Given the description of an element on the screen output the (x, y) to click on. 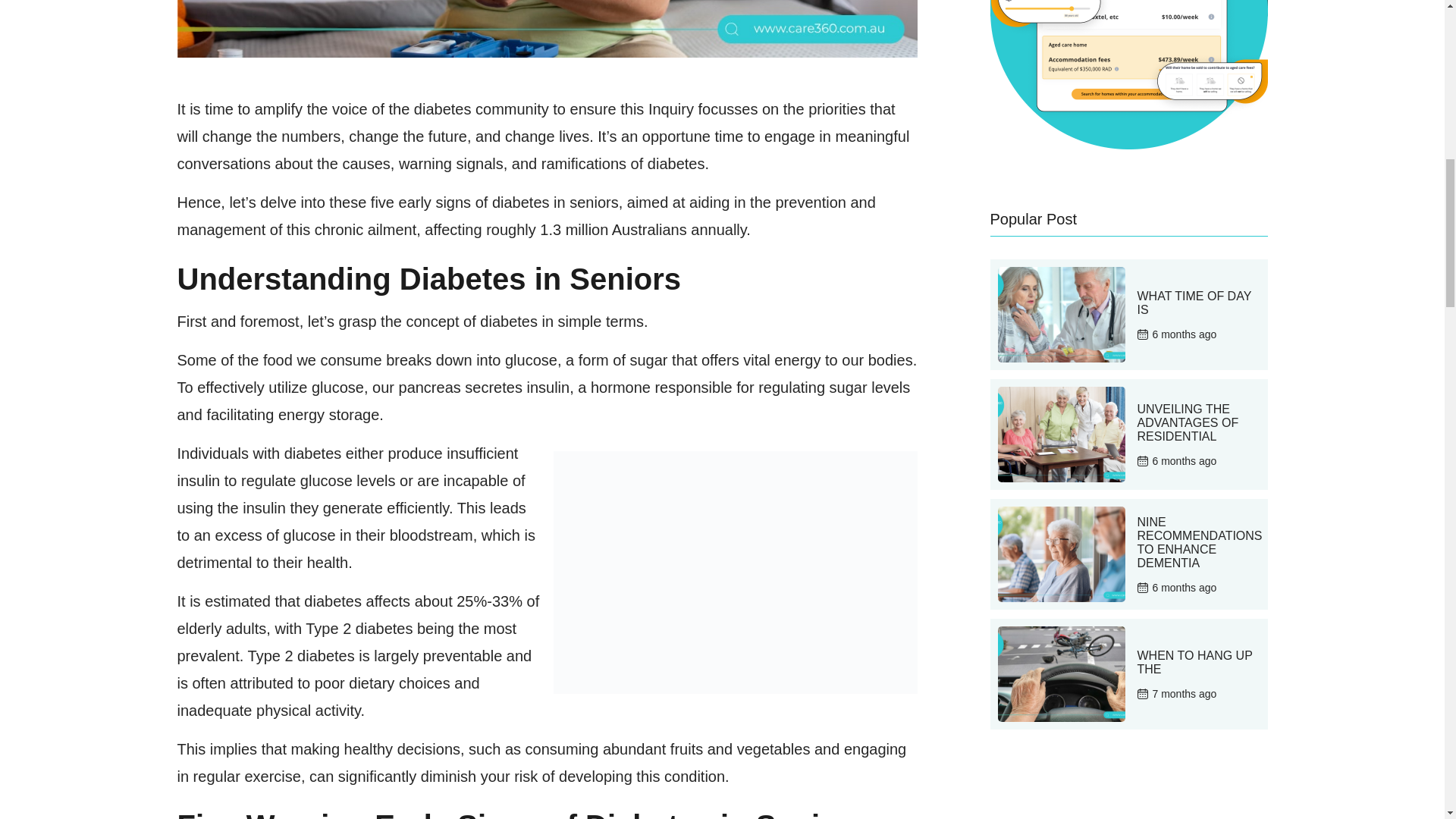
NINE RECOMMENDATIONS TO ENHANCE DEMENTIA (1199, 542)
UNVEILING THE ADVANTAGES OF RESIDENTIAL (1188, 422)
WHEN TO HANG UP THE (1194, 662)
WHAT TIME OF DAY IS (1194, 302)
